Given the description of an element on the screen output the (x, y) to click on. 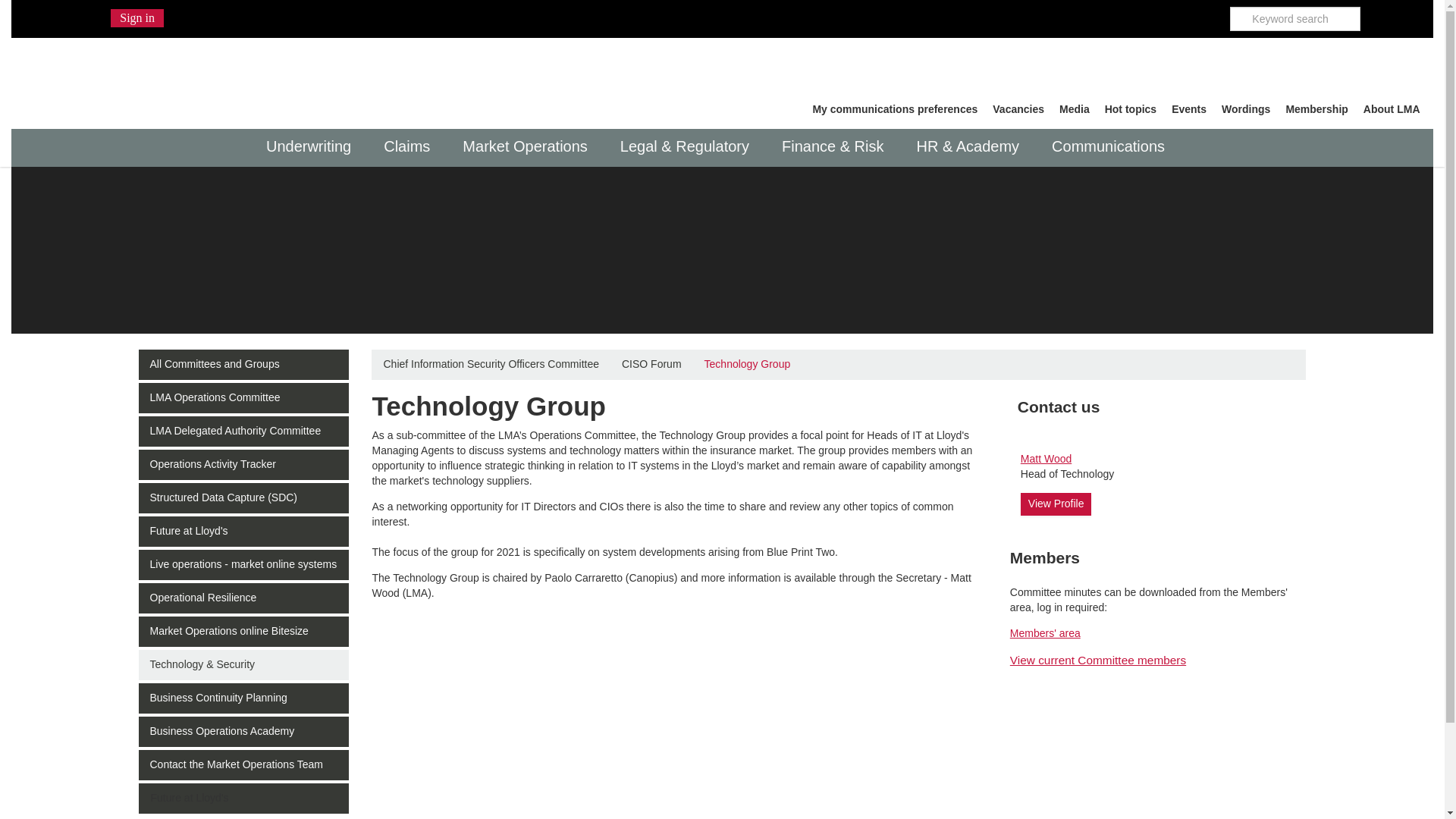
Visit our LinkedIn page (1205, 13)
Underwriting (312, 146)
My communications preferences (895, 109)
iMIS (162, 77)
Home (162, 77)
Vacancies (1018, 109)
Market Operations (529, 146)
Media (1074, 109)
Visit our Twitter page (1179, 13)
Claims (410, 146)
